Given the description of an element on the screen output the (x, y) to click on. 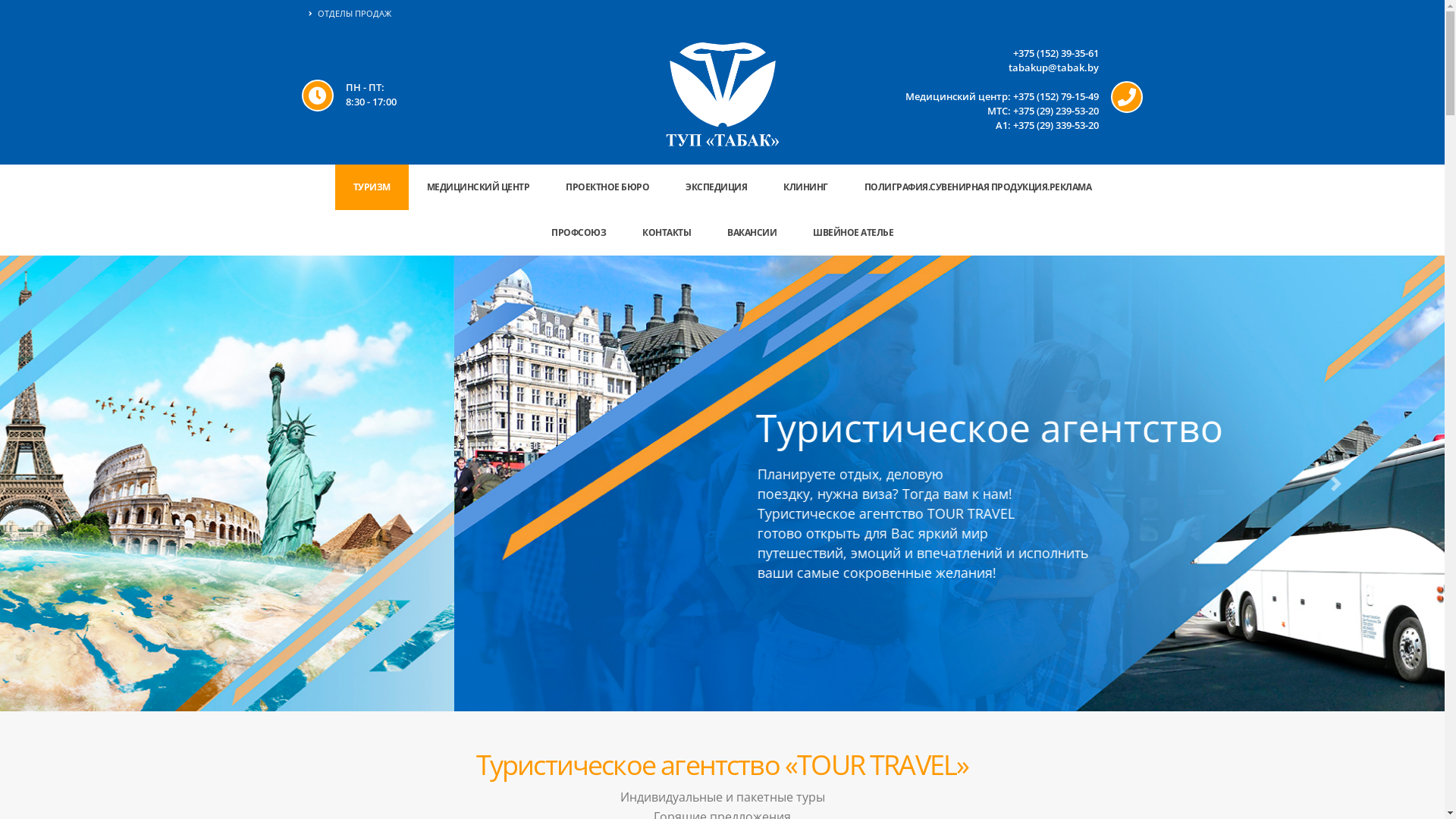
Previous Element type: text (108, 483)
Next Element type: text (1335, 483)
